Given the description of an element on the screen output the (x, y) to click on. 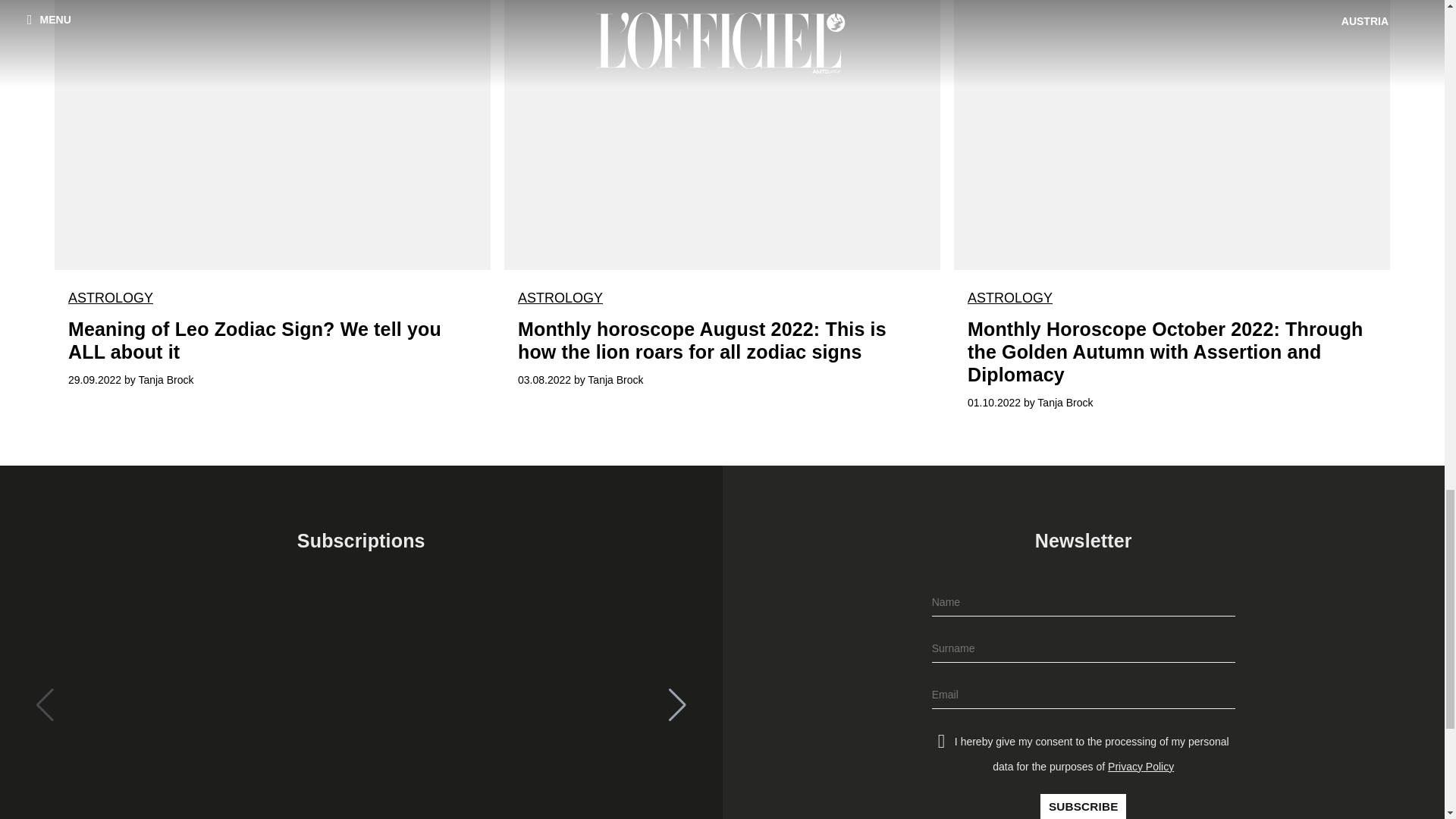
Subscribe (1083, 806)
